Given the description of an element on the screen output the (x, y) to click on. 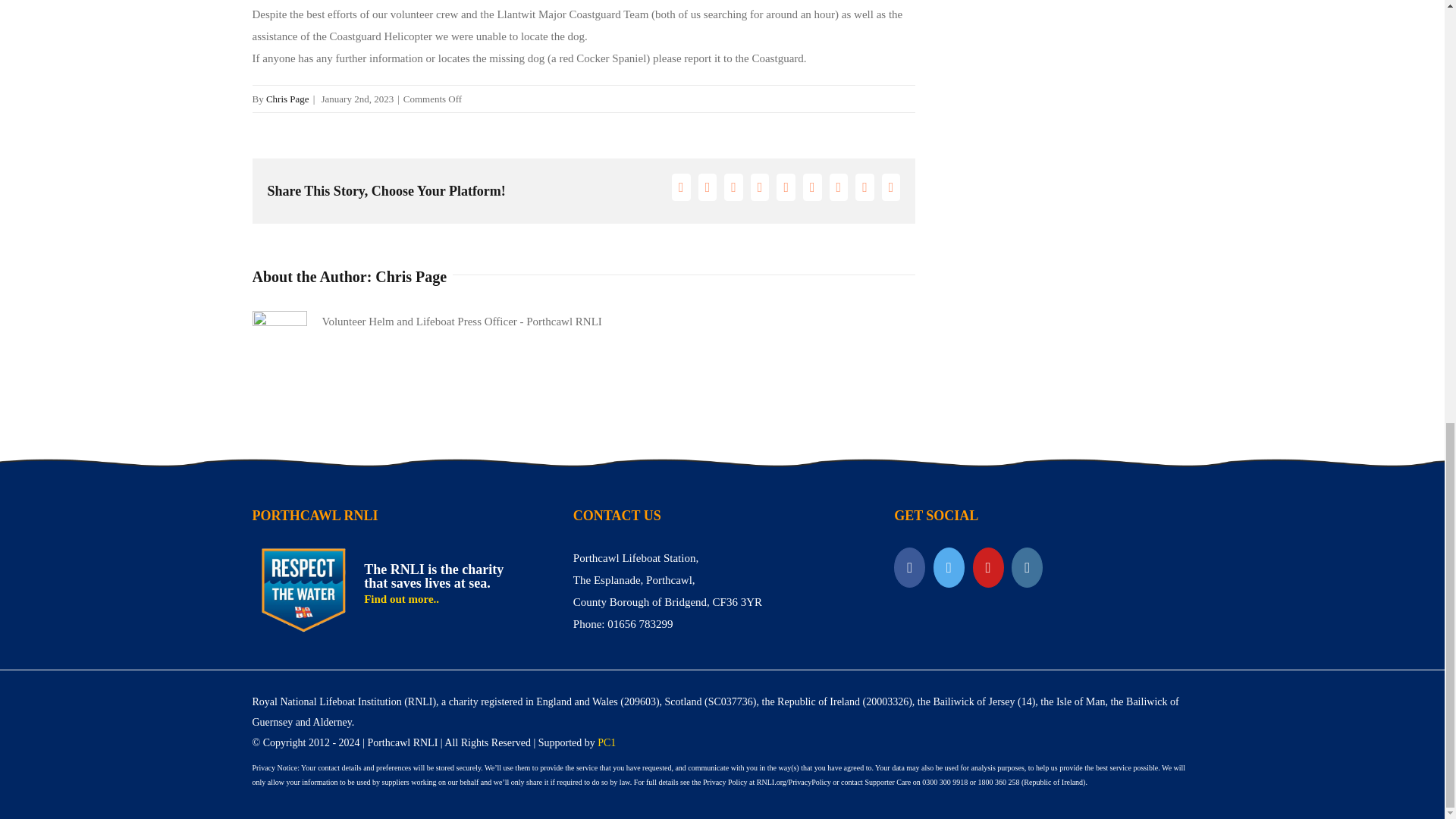
Posts by Chris Page (410, 276)
Chris Page (287, 98)
Posts by Chris Page (287, 98)
